Given the description of an element on the screen output the (x, y) to click on. 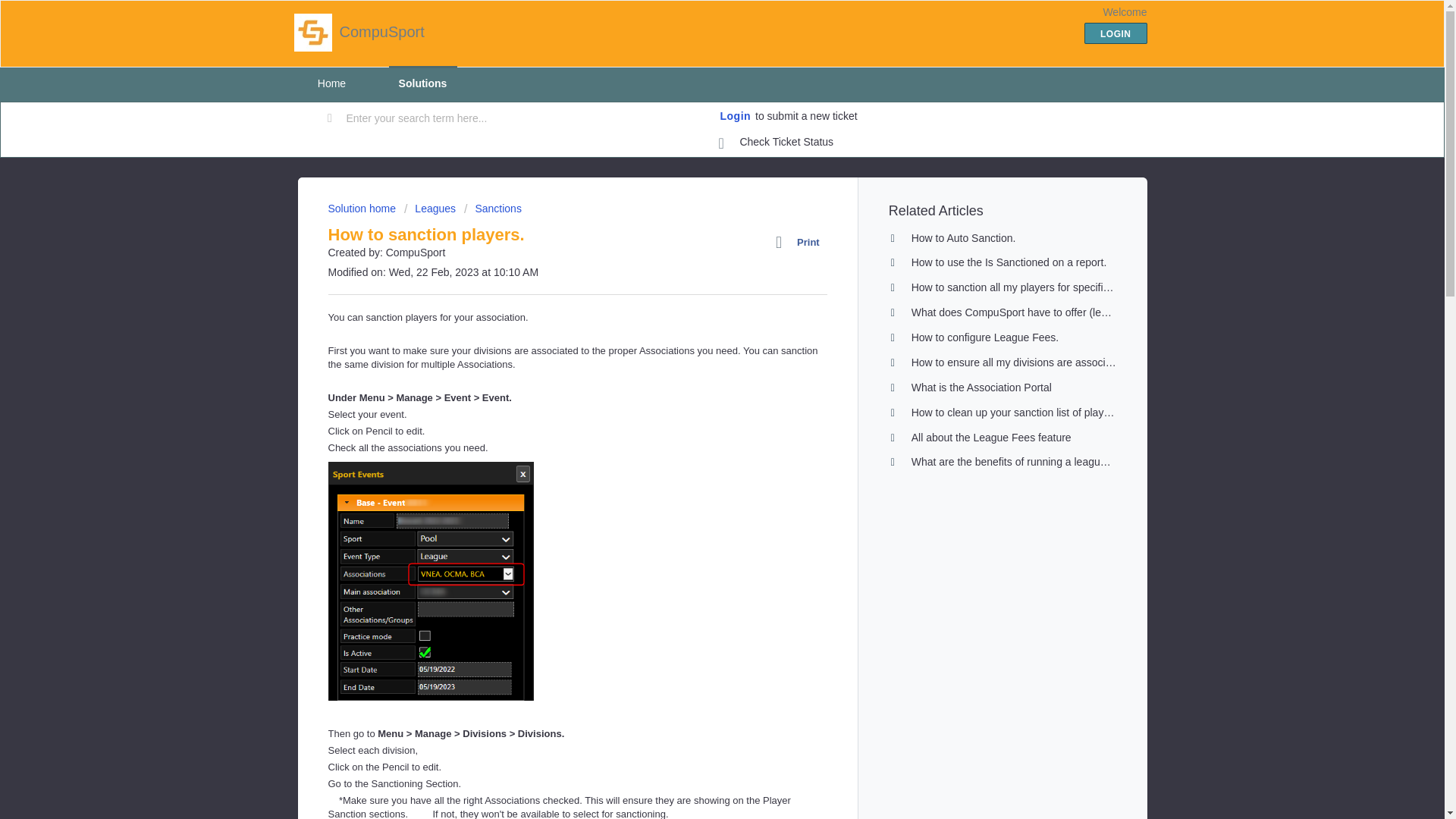
Sanctions (492, 208)
How to configure League Fees. (985, 337)
LOGIN (1115, 33)
Print this Article (801, 242)
How to Auto Sanction. (963, 237)
All about the League Fees feature (991, 437)
Print (801, 242)
Home (331, 83)
Check Ticket Status (776, 142)
Solutions (422, 83)
Login (735, 116)
How to use the Is Sanctioned on a report. (1008, 262)
What is the Association Portal (981, 387)
Solution home (362, 208)
